Given the description of an element on the screen output the (x, y) to click on. 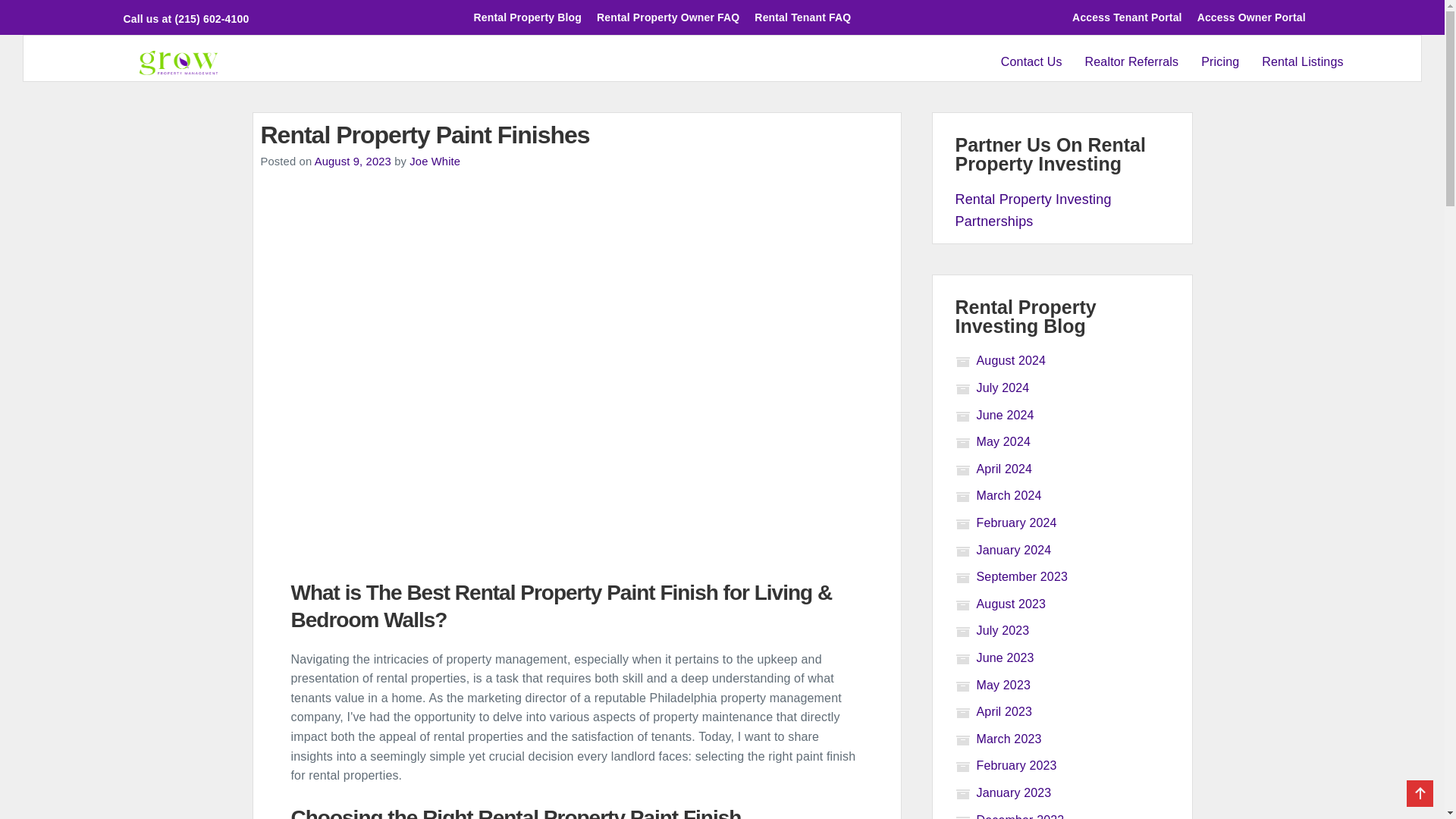
Pricing (1219, 62)
January 2024 (1003, 549)
Joe White (434, 161)
August 9, 2023 (352, 161)
August 2024 (1000, 359)
Rental Property Investing Partnerships (1033, 210)
April 2024 (993, 468)
July 2024 (992, 387)
Contact Us (1037, 62)
